Given the description of an element on the screen output the (x, y) to click on. 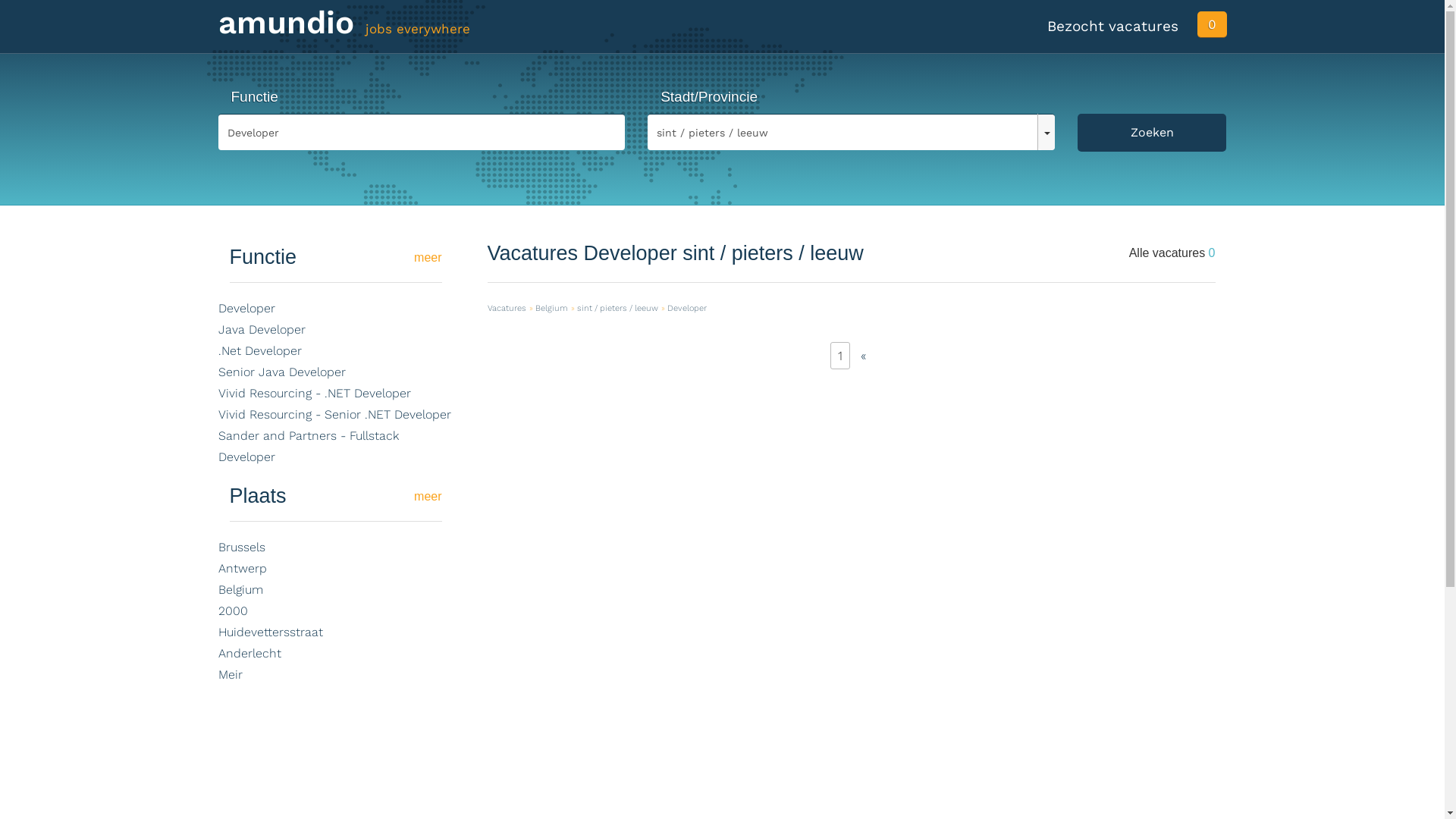
2000 Element type: text (232, 610)
Anderlecht Element type: text (249, 653)
Vacatures Element type: text (505, 308)
.Net Developer Element type: text (259, 350)
Brussels Element type: text (241, 546)
Vivid Resourcing - Senior .NET Developer Element type: text (334, 414)
Meir Element type: text (230, 674)
meer Element type: text (427, 257)
Sander and Partners - Fullstack Developer Element type: text (308, 446)
Antwerp Element type: text (242, 568)
amundio Element type: text (286, 26)
meer Element type: text (427, 495)
Belgium Element type: text (551, 308)
sint / pieters / leeuw Element type: text (616, 308)
Huidevettersstraat Element type: text (270, 631)
Developer Element type: text (246, 308)
Vivid Resourcing - .NET Developer Element type: text (314, 392)
Developer Element type: text (686, 308)
Java Developer Element type: text (261, 329)
Belgium Element type: text (240, 589)
Senior Java Developer Element type: text (281, 371)
